Given the description of an element on the screen output the (x, y) to click on. 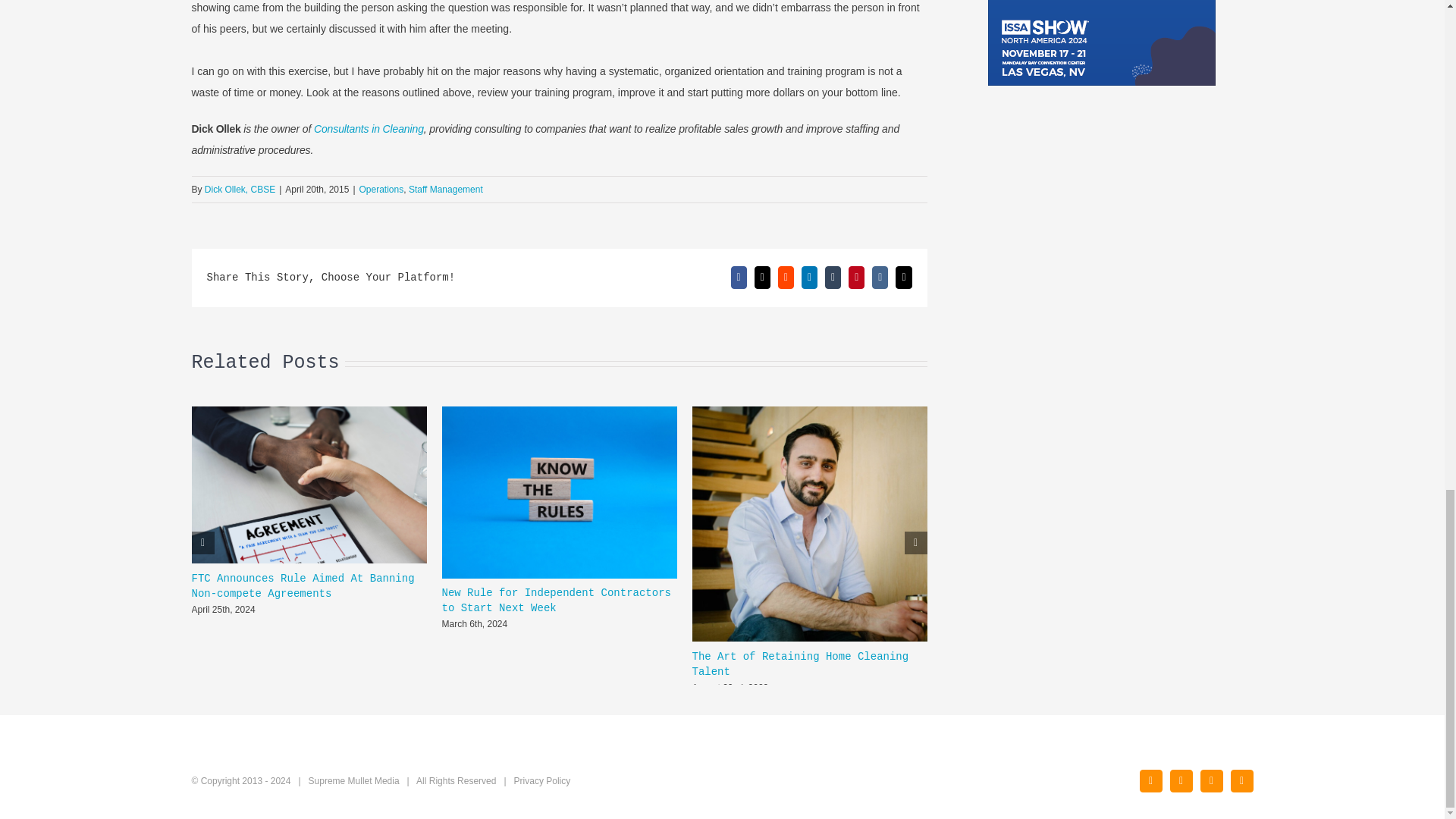
Posts by Dick Ollek, CBSE (240, 189)
